Given the description of an element on the screen output the (x, y) to click on. 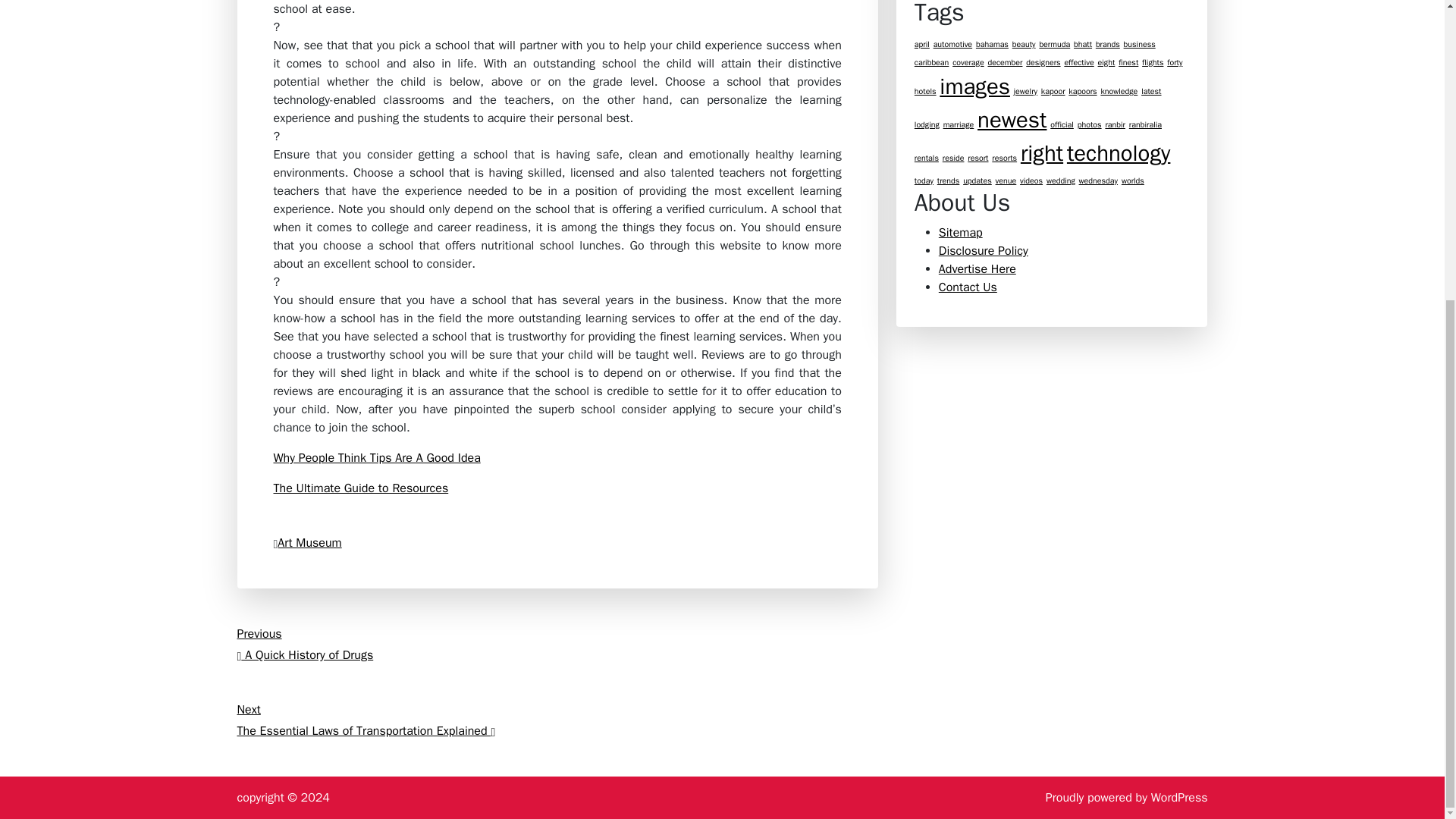
flights (556, 645)
december (1152, 62)
Why People Think Tips Are A Good Idea (1004, 62)
bermuda (376, 458)
jewelry (1054, 44)
images (1024, 91)
automotive (974, 86)
coverage (952, 44)
bahamas (968, 62)
april (992, 44)
The Ultimate Guide to Resources (922, 44)
business (360, 488)
hotels (1140, 44)
